Given the description of an element on the screen output the (x, y) to click on. 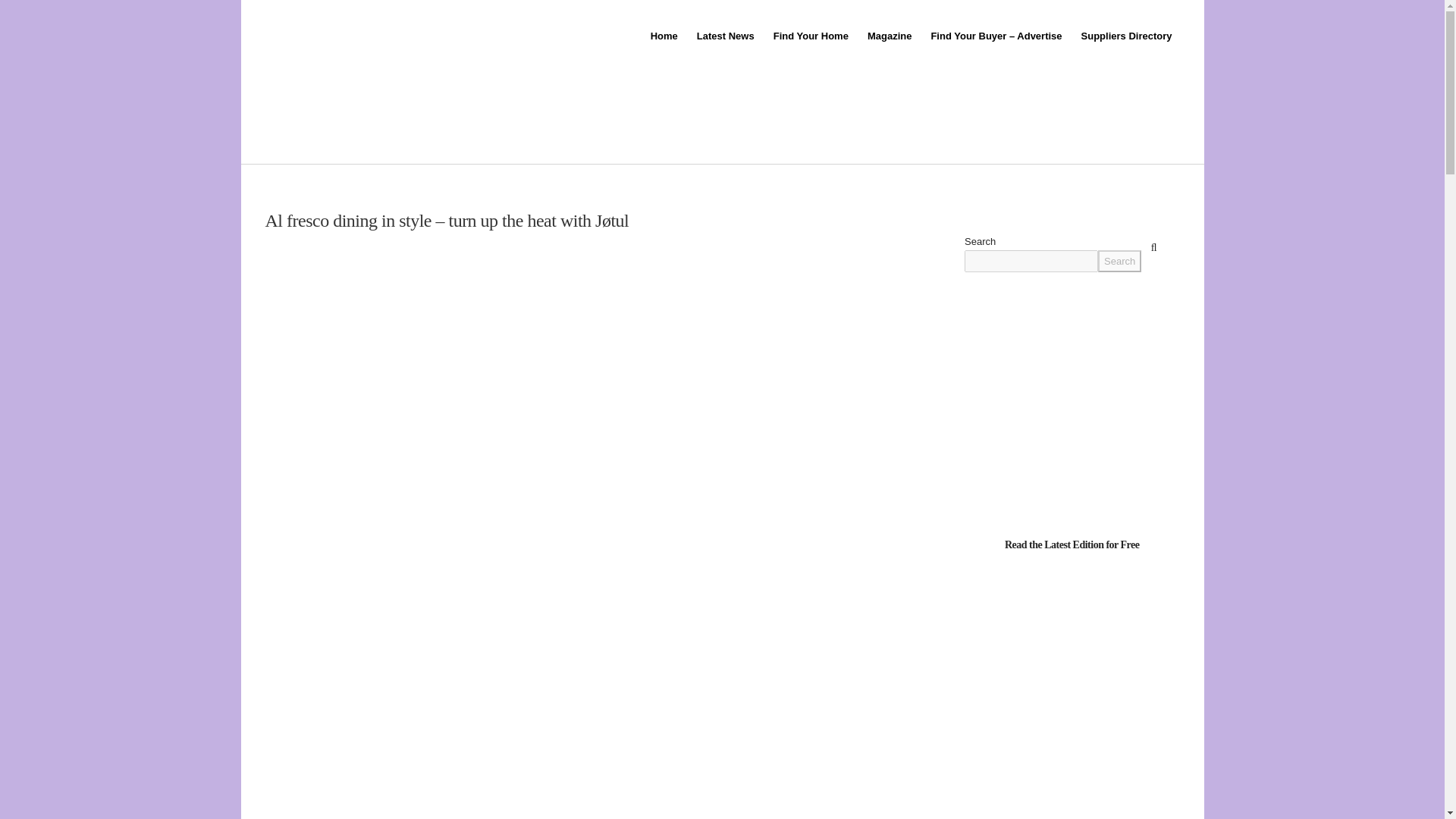
Find Your Home (809, 36)
Latest News (724, 36)
Home (662, 36)
Suppliers Directory (1125, 36)
Read the Latest Edition for Free (1072, 543)
Search (1119, 260)
Magazine (888, 36)
